Given the description of an element on the screen output the (x, y) to click on. 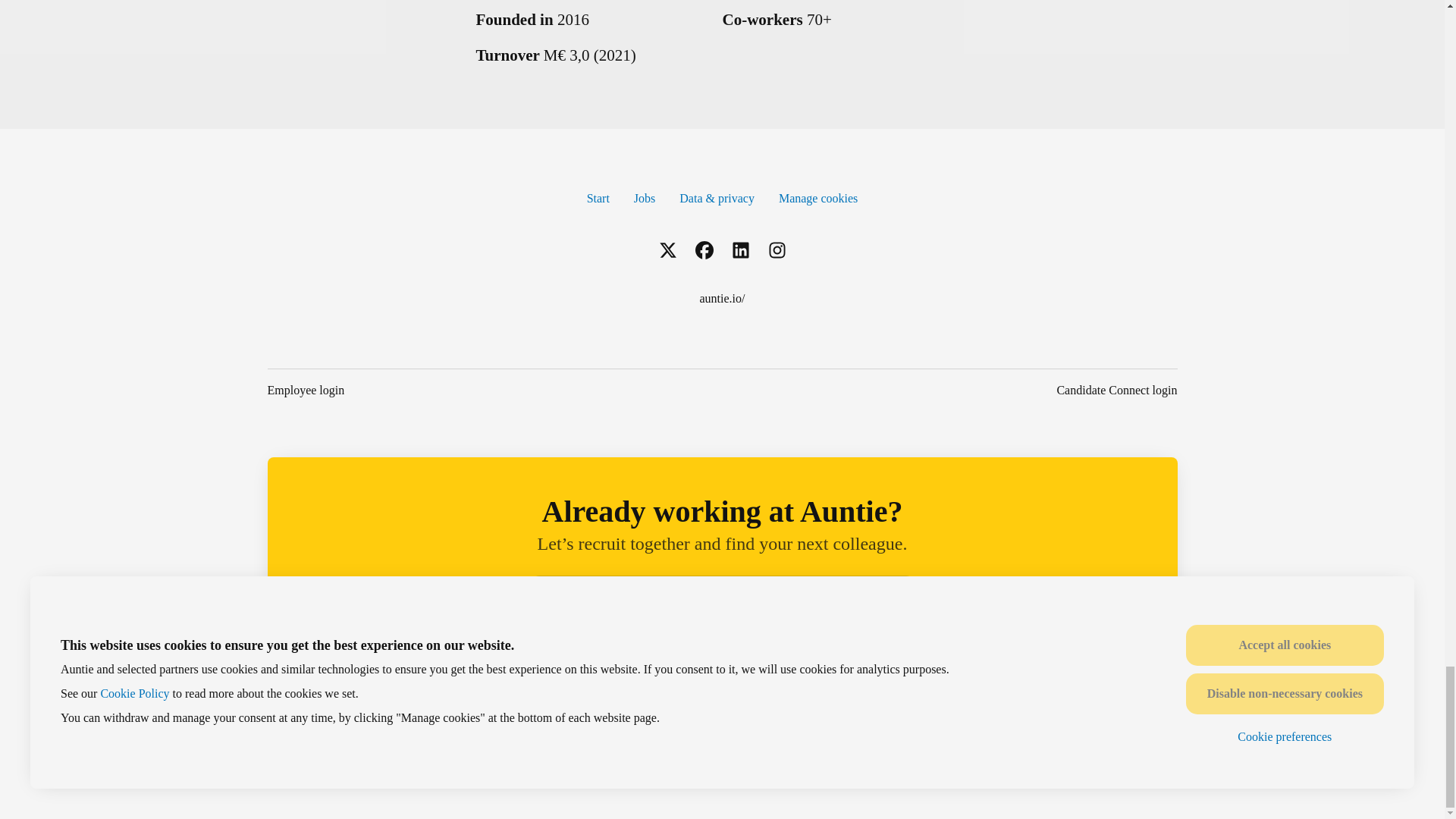
linkedin (740, 251)
Manage cookies (818, 198)
facebook (703, 251)
Employee login (304, 390)
Candidate Connect login (1116, 390)
Log in (887, 598)
instagram (776, 251)
Jobs (643, 198)
Start (598, 198)
x-twitter (667, 251)
